Given the description of an element on the screen output the (x, y) to click on. 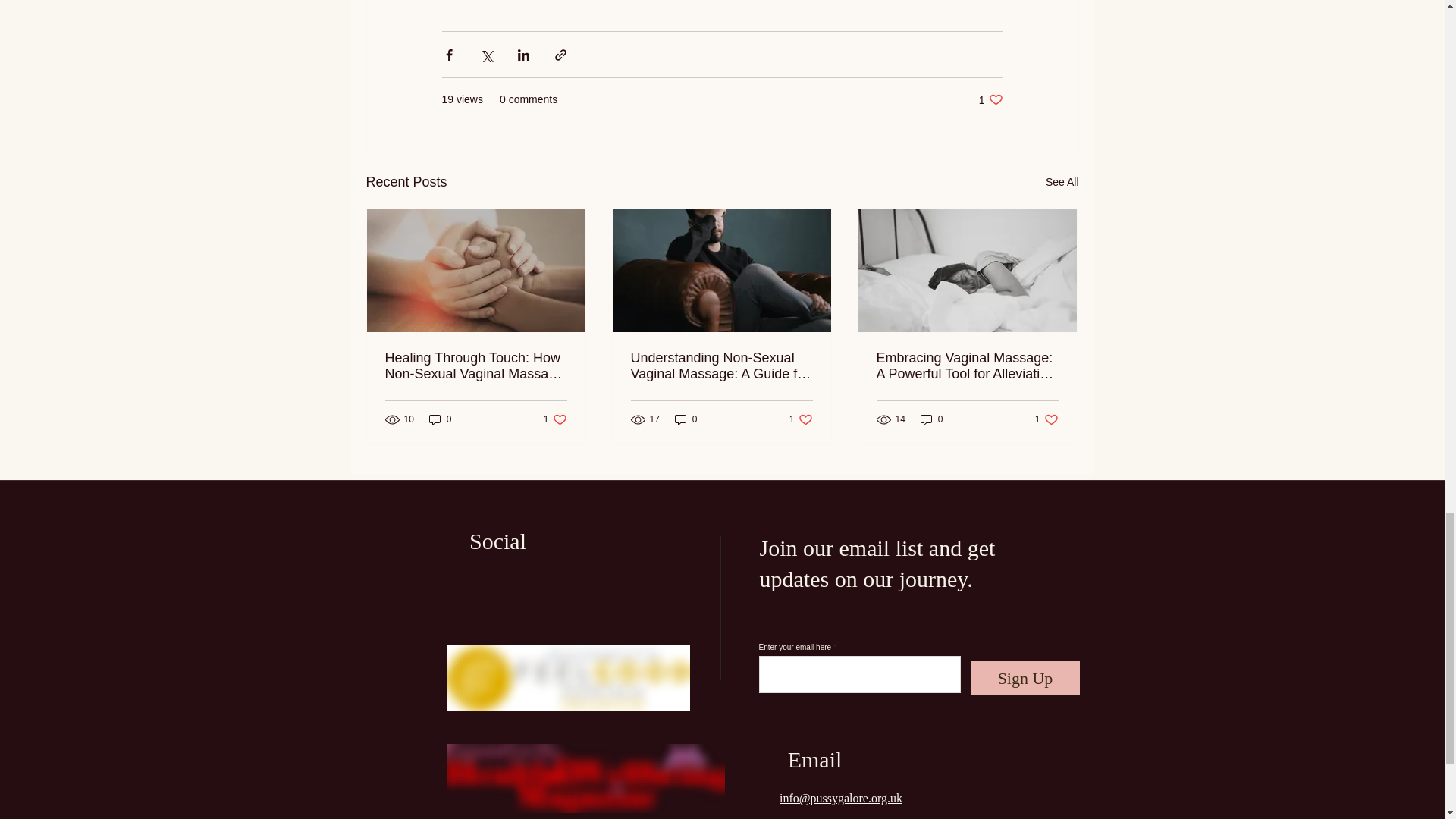
See All (555, 419)
0 (1061, 182)
0 (685, 419)
Understanding Non-Sexual Vaginal Massage: A Guide for Men (440, 419)
FGN-CM-Badge-Trans.png (721, 366)
